Given the description of an element on the screen output the (x, y) to click on. 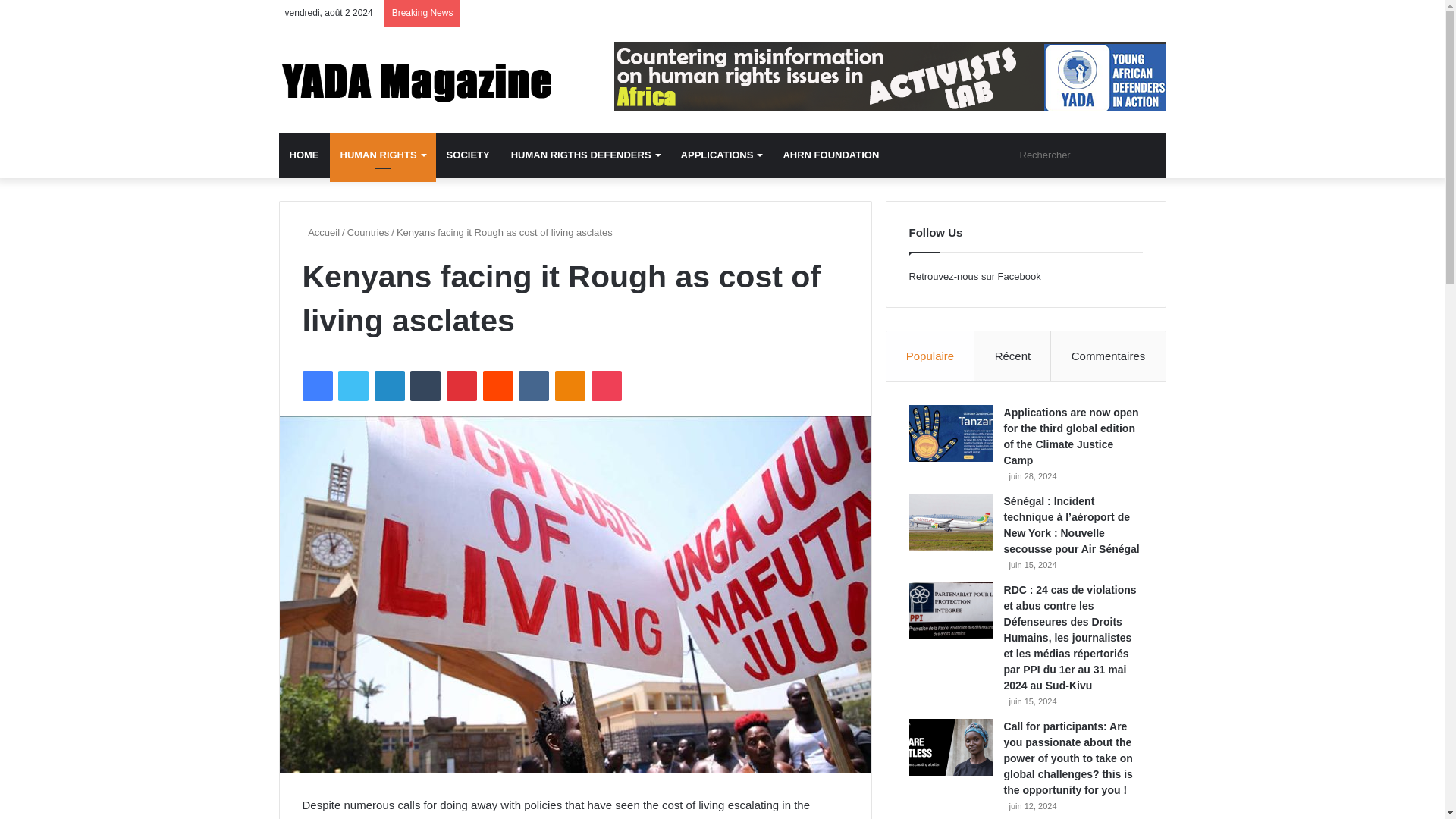
Facebook (316, 386)
YADA Magazine (419, 79)
HUMAN RIGHTS (382, 155)
VKontakte (533, 386)
HOME (304, 155)
Tumblr (425, 386)
Linkedin (389, 386)
Pinterest (461, 386)
Odnoklassniki (569, 386)
Rechercher (1088, 155)
